Given the description of an element on the screen output the (x, y) to click on. 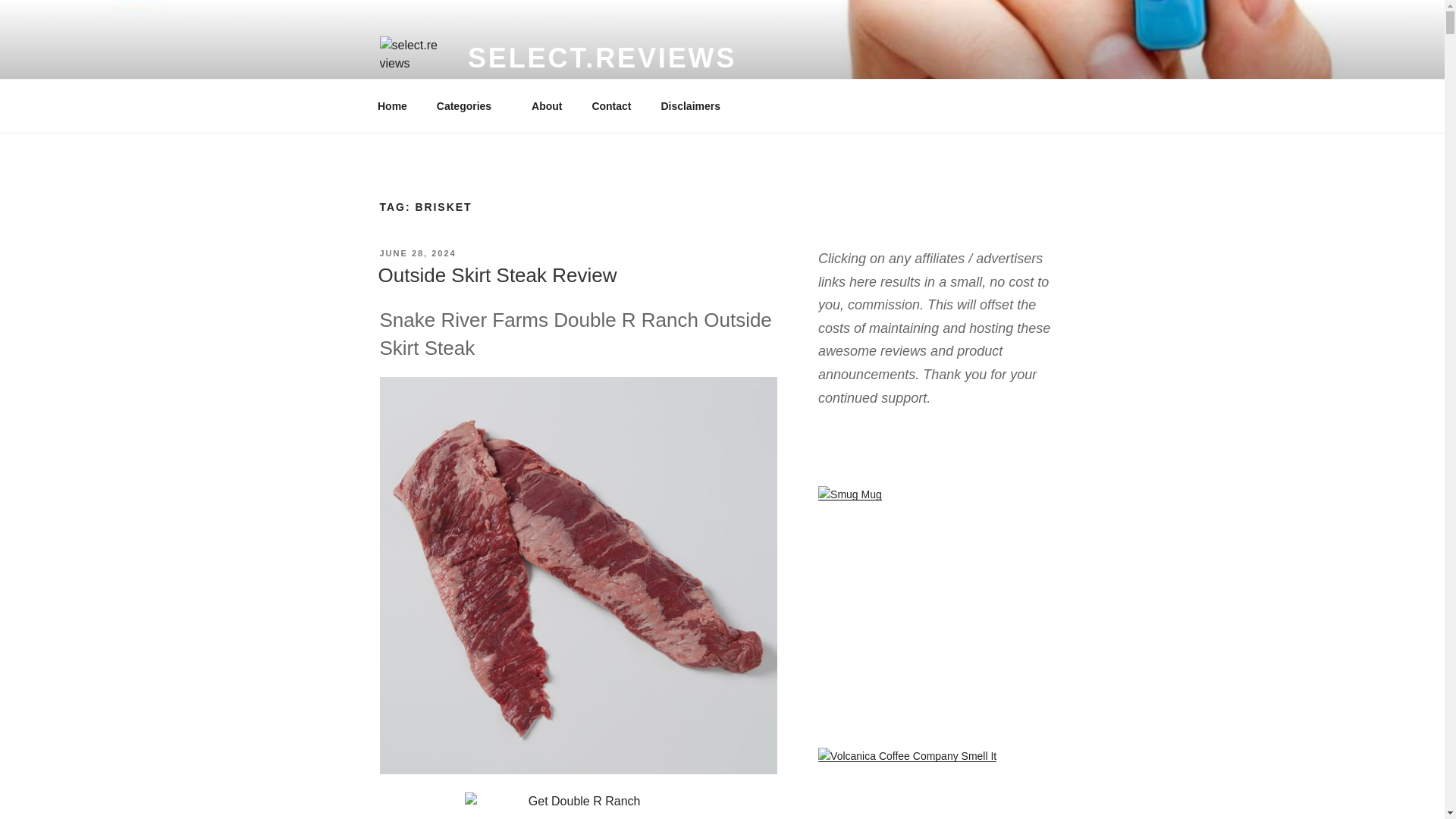
Contact (611, 106)
Categories (469, 106)
About (546, 106)
JUNE 28, 2024 (416, 252)
Outside Skirt Steak Review (496, 274)
Disclaimers (695, 106)
Home (392, 106)
SELECT.REVIEWS (601, 57)
